Given the description of an element on the screen output the (x, y) to click on. 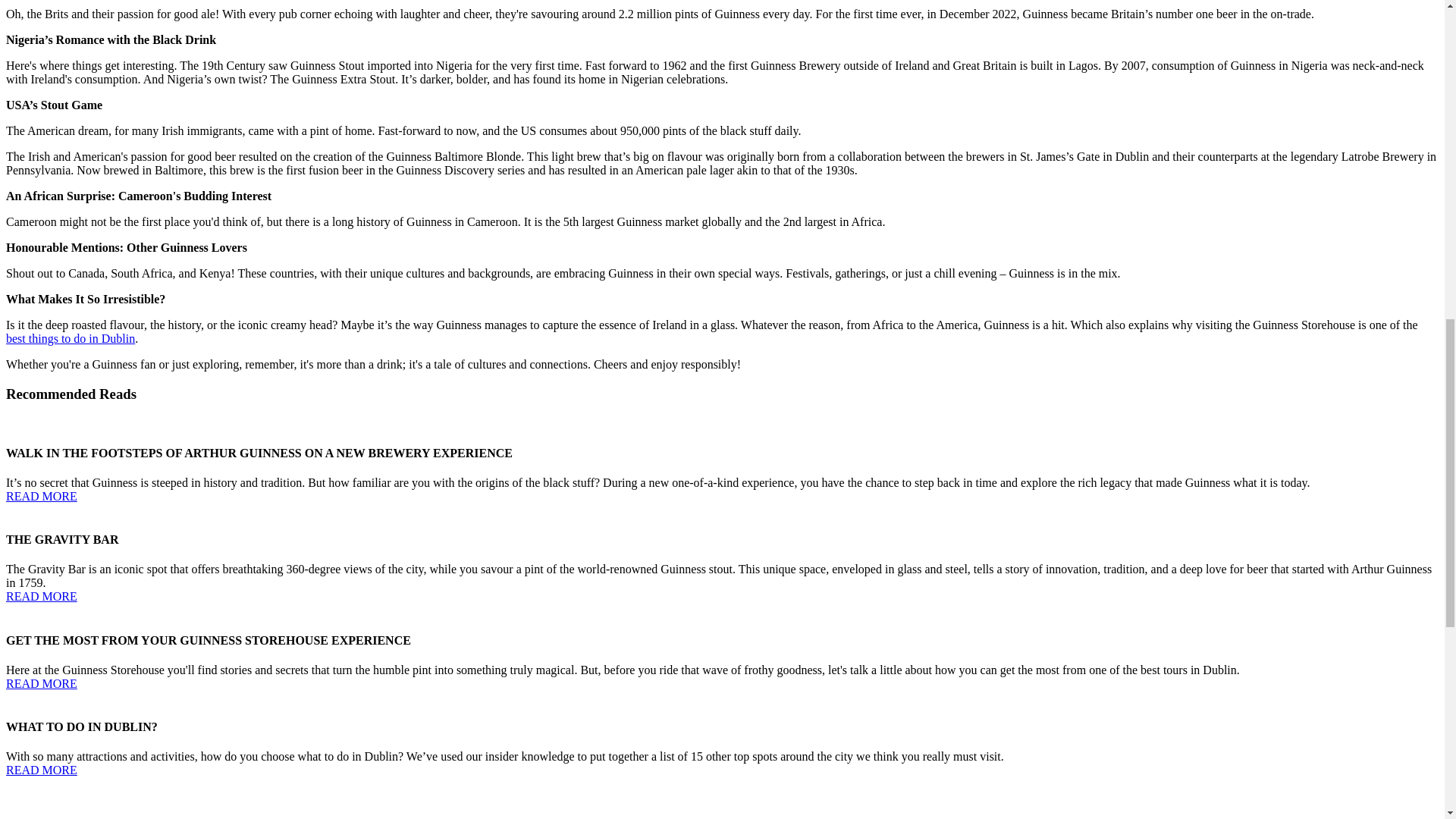
READ MORE (41, 683)
READ MORE (41, 495)
best things to do in Dublin (70, 338)
READ MORE (41, 595)
READ MORE (41, 769)
